Given the description of an element on the screen output the (x, y) to click on. 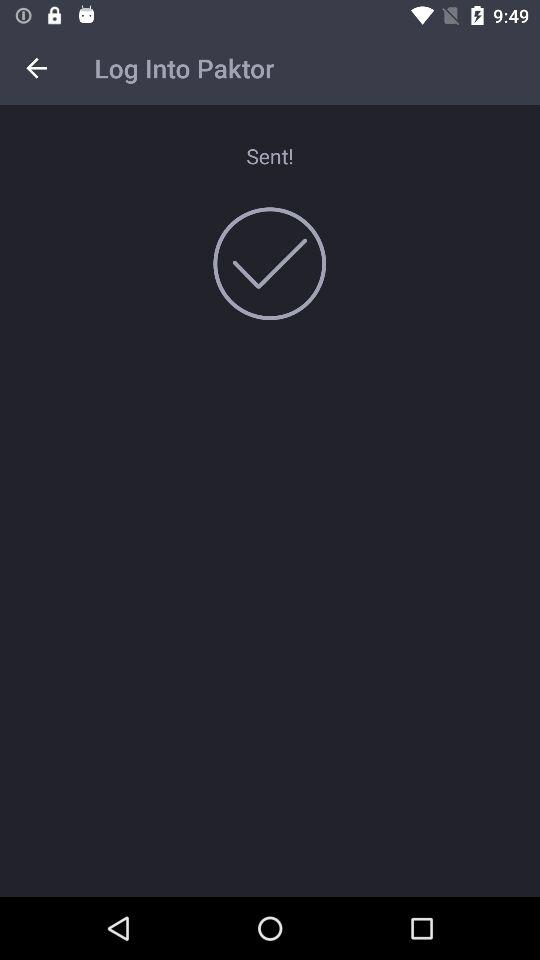
open icon at the top left corner (36, 68)
